Given the description of an element on the screen output the (x, y) to click on. 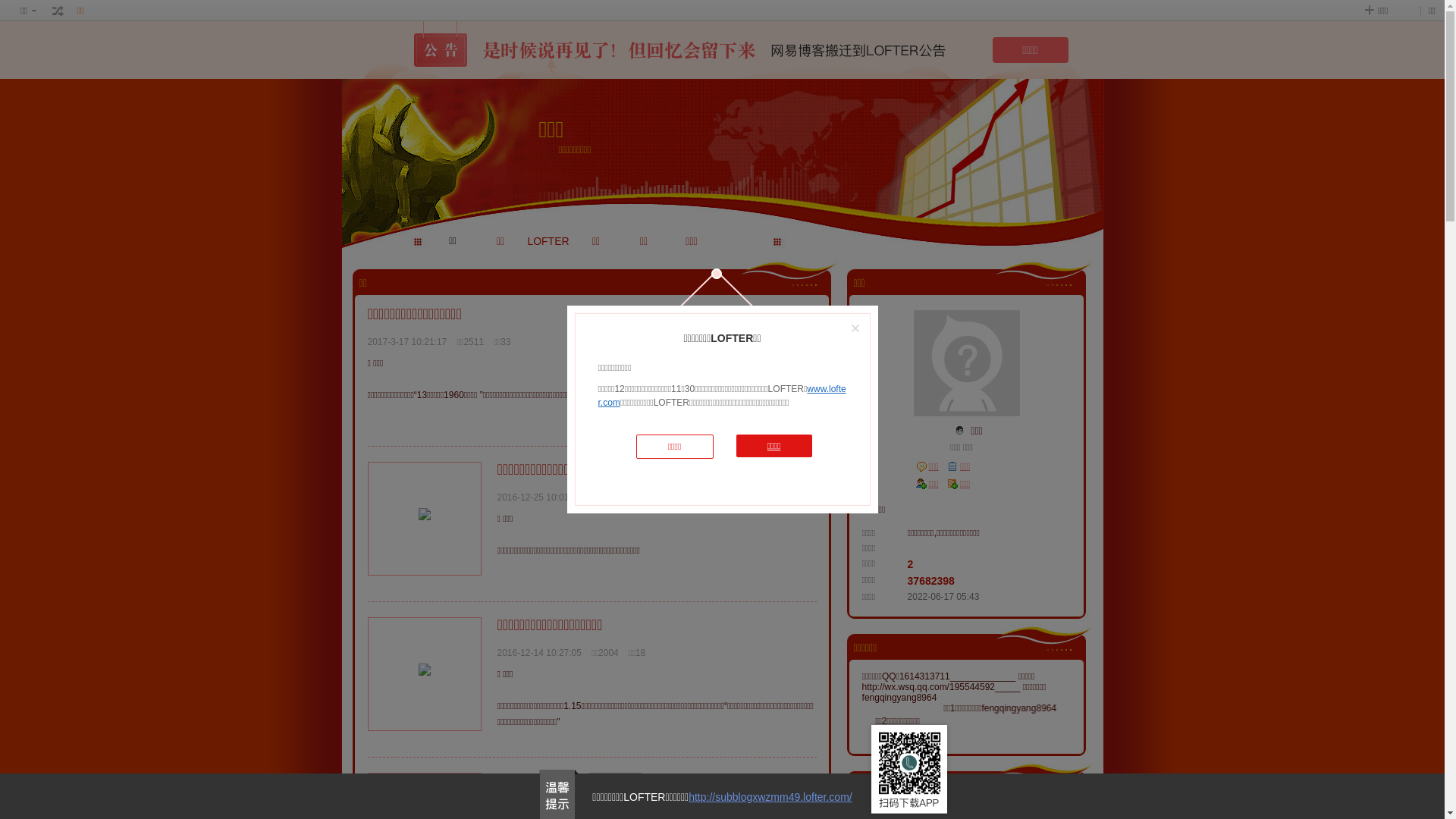
  Element type: text (608, 469)
  Element type: text (58, 10)
http://subblogxwzmm49.lofter.com/ Element type: text (770, 796)
LOFTER Element type: text (548, 241)
  Element type: text (614, 780)
  Element type: text (959, 430)
www.lofter.com Element type: text (721, 395)
